Given the description of an element on the screen output the (x, y) to click on. 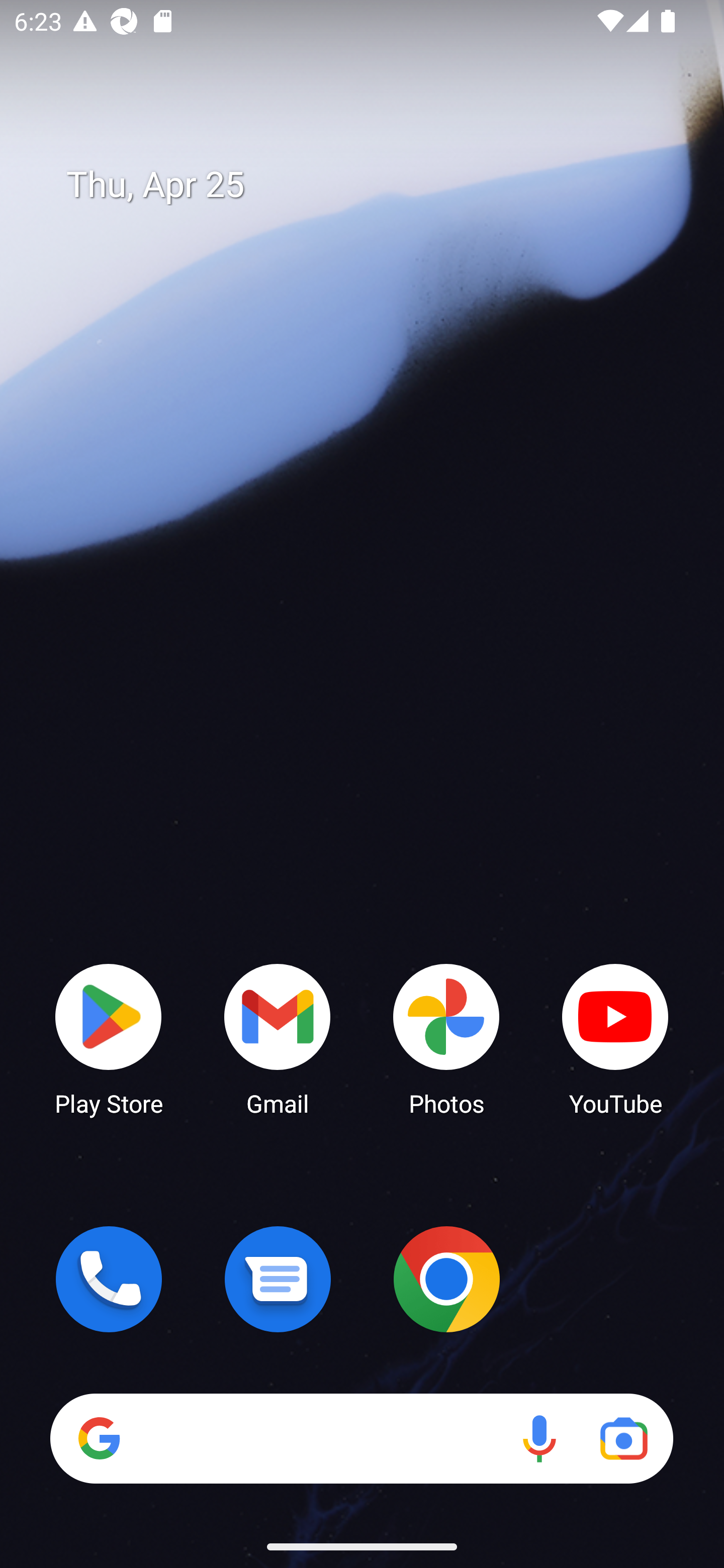
Thu, Apr 25 (375, 184)
Play Store (108, 1038)
Gmail (277, 1038)
Photos (445, 1038)
YouTube (615, 1038)
Phone (108, 1279)
Messages (277, 1279)
Chrome (446, 1279)
Search Voice search Google Lens (361, 1438)
Voice search (539, 1438)
Google Lens (623, 1438)
